Given the description of an element on the screen output the (x, y) to click on. 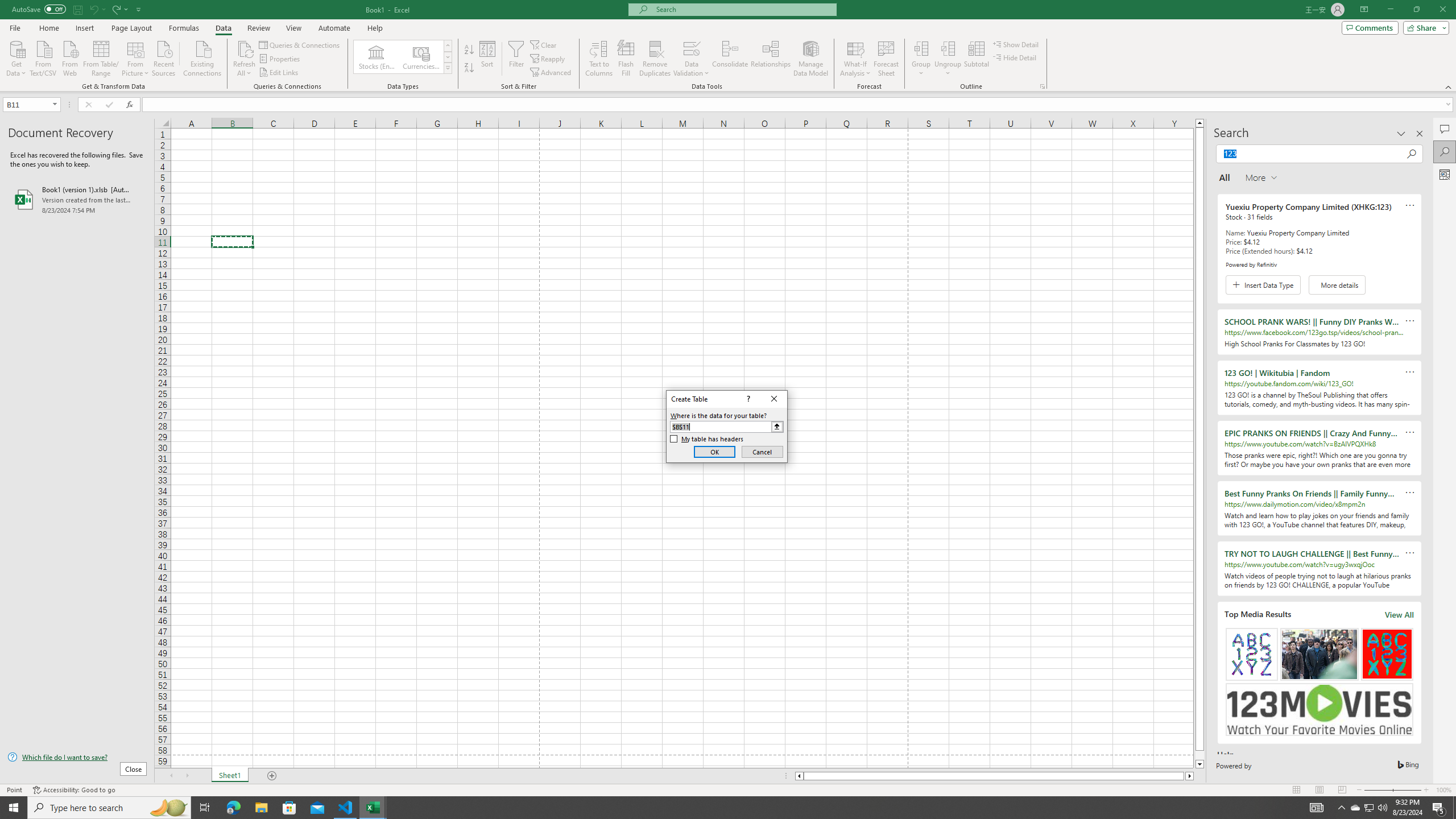
Get Data (16, 57)
Properties (280, 58)
Filter (515, 58)
Show Detail (1016, 44)
My table has headers (706, 438)
Restore Down (1416, 9)
Where is the data for your table? (726, 426)
Microsoft Store (289, 807)
